Given the description of an element on the screen output the (x, y) to click on. 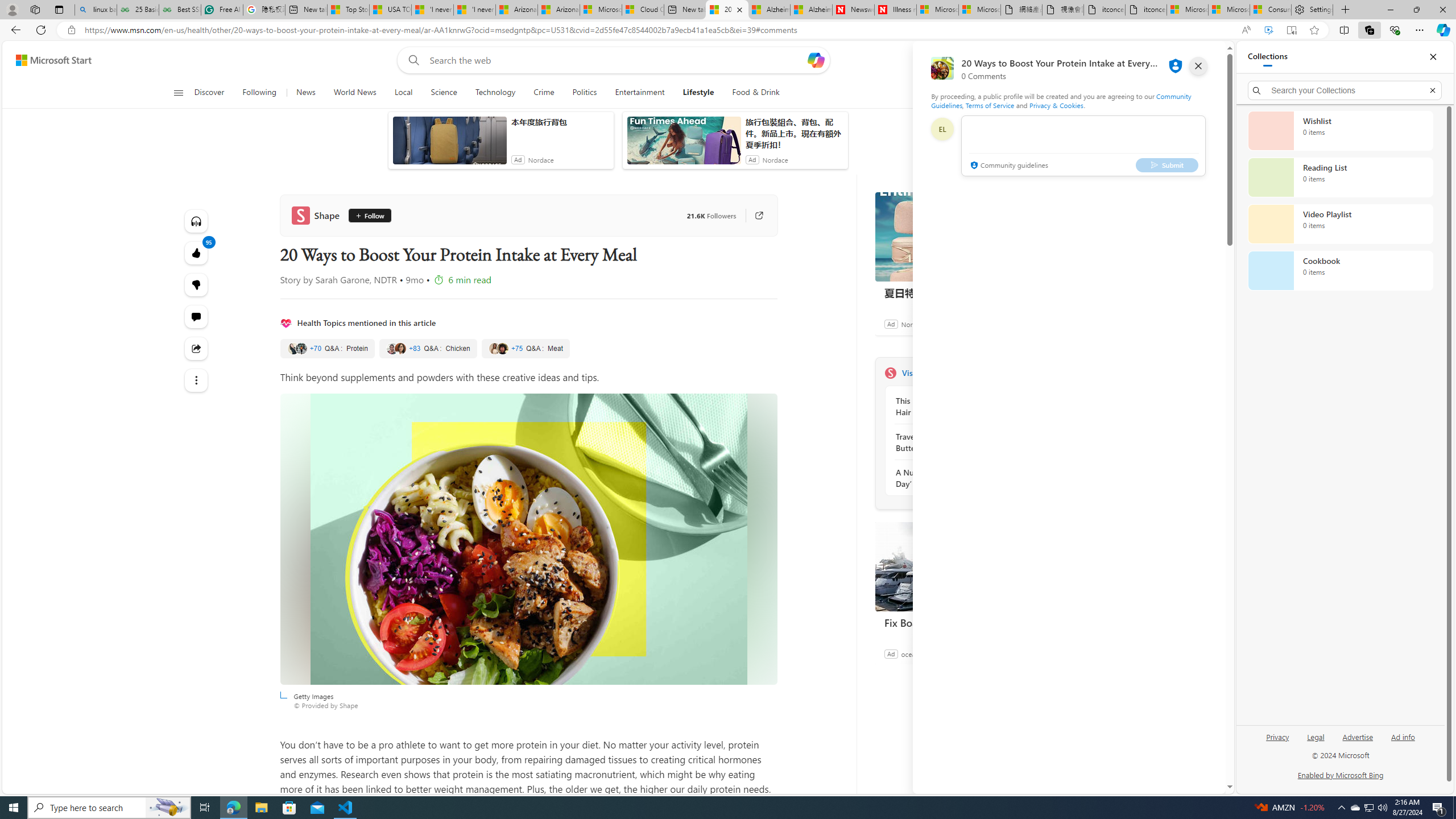
Exit search (1432, 90)
Listen to this article (196, 220)
Newsweek - News, Analysis, Politics, Business, Technology (853, 9)
comment-box (1082, 145)
Shape (318, 215)
Enhance video (1268, 29)
